Given the description of an element on the screen output the (x, y) to click on. 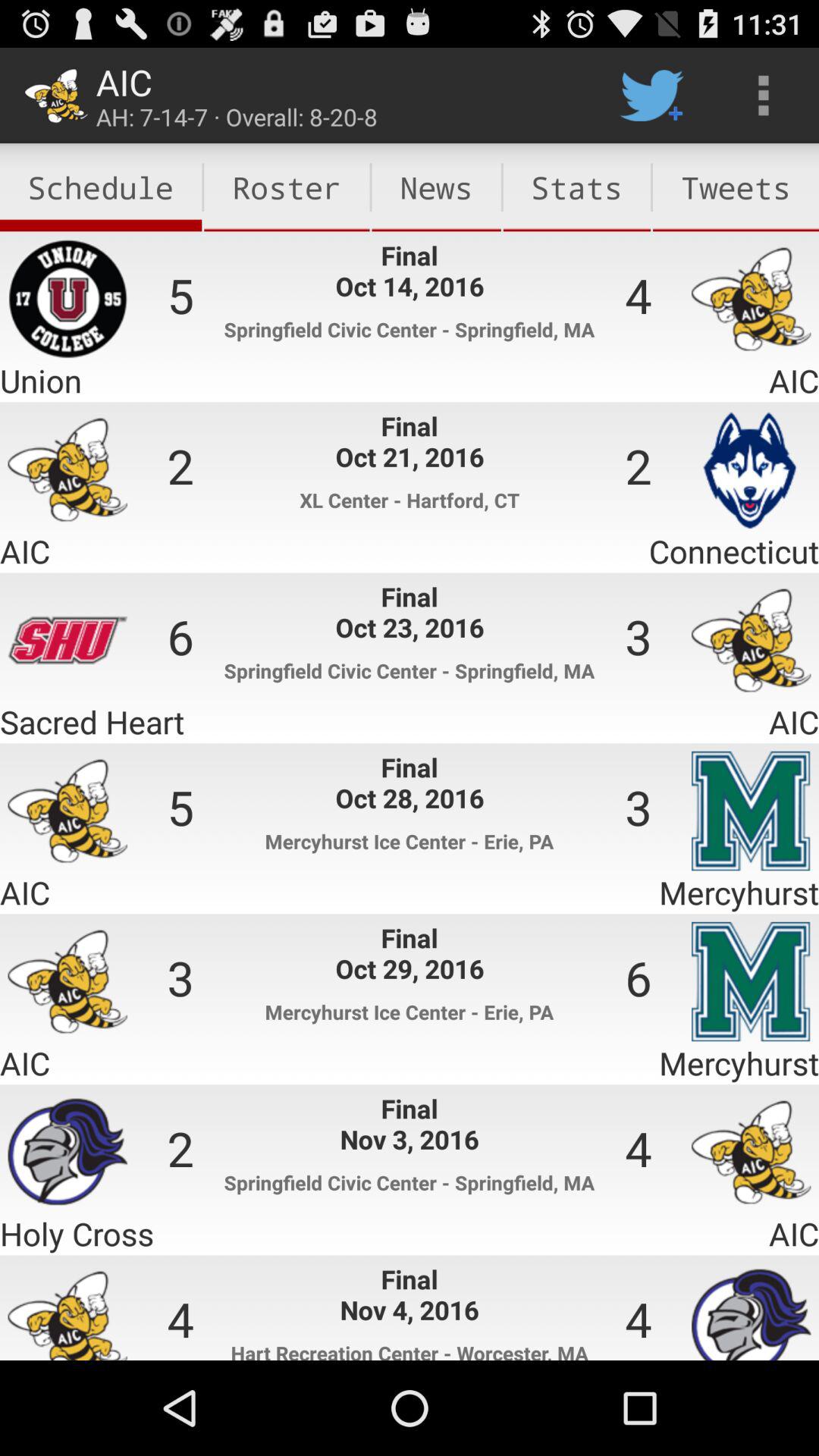
select item above the tweets item (763, 95)
